Given the description of an element on the screen output the (x, y) to click on. 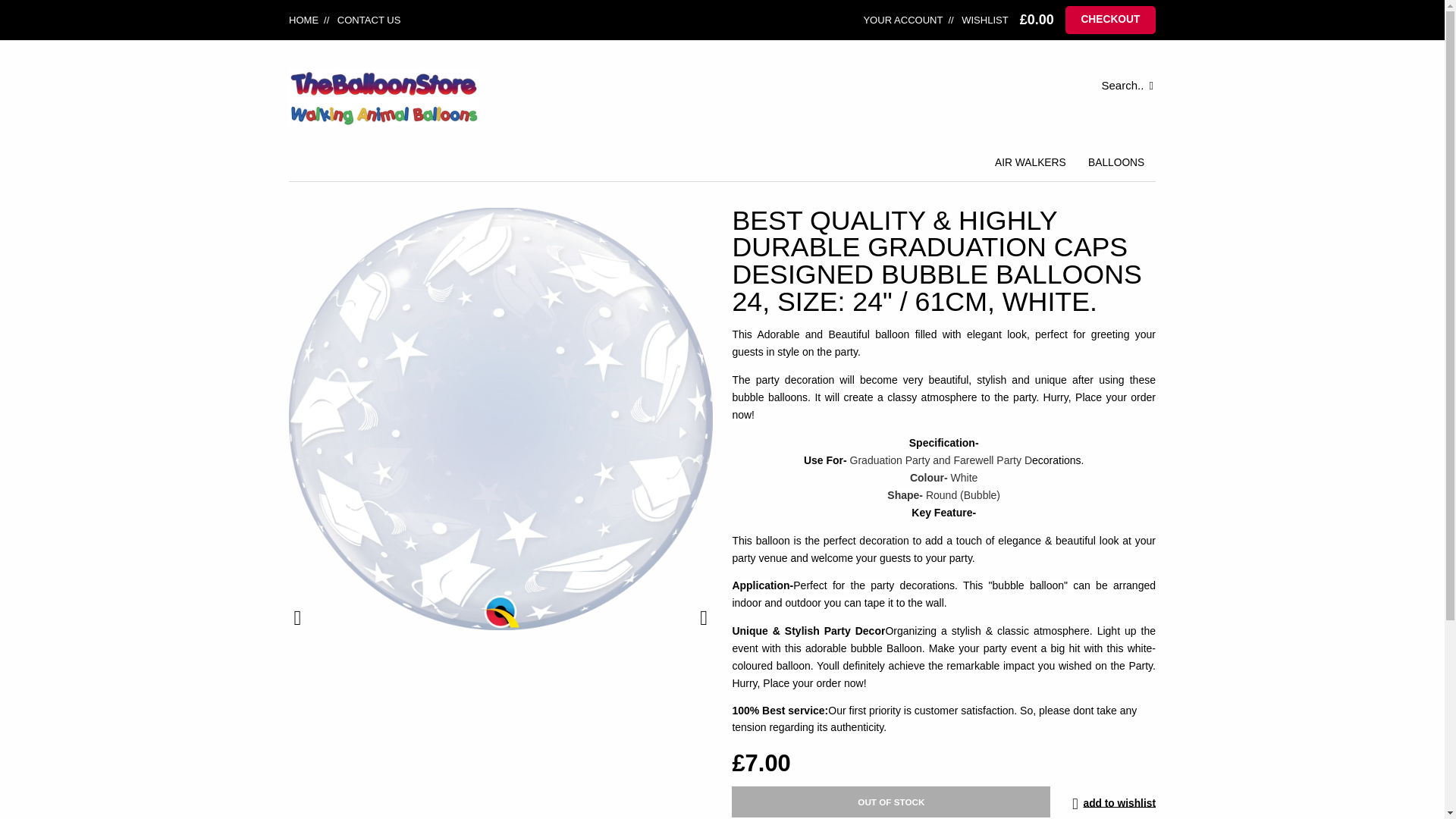
CONTACT US (359, 20)
Search.. (907, 85)
YOUR ACCOUNT (902, 20)
HOME (303, 20)
CHECKOUT (1110, 19)
BALLOONS (1115, 162)
